Given the description of an element on the screen output the (x, y) to click on. 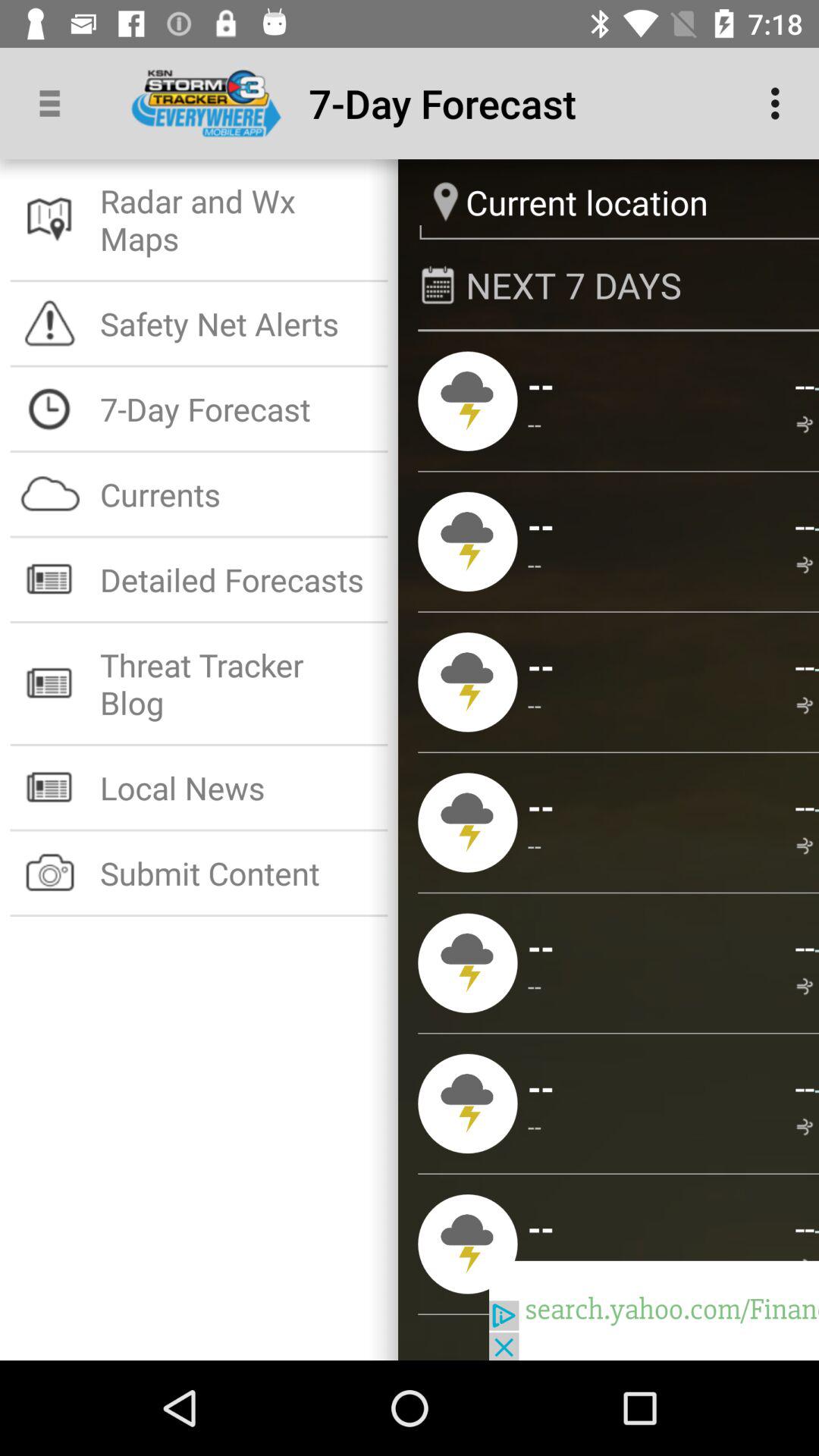
launch app below -- (804, 946)
